Given the description of an element on the screen output the (x, y) to click on. 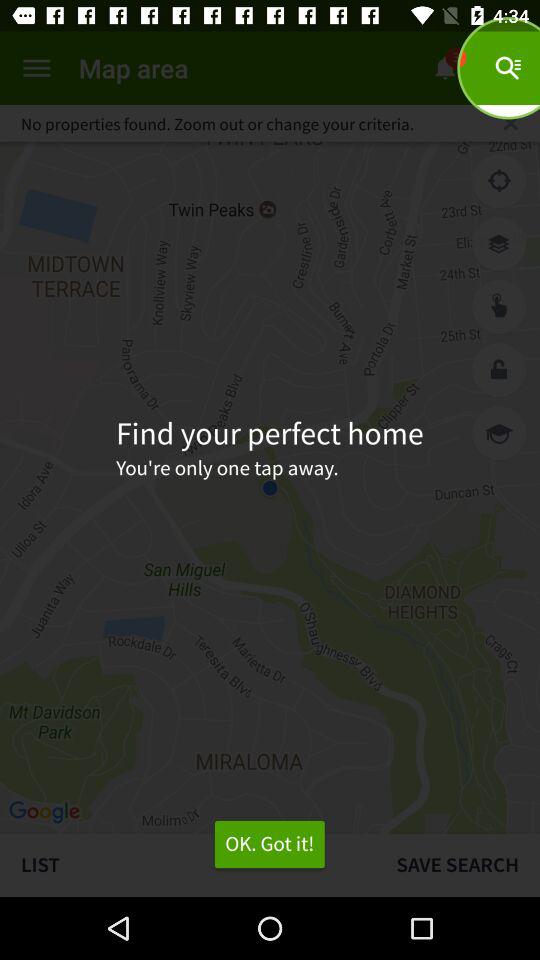
close search tab (510, 123)
